Given the description of an element on the screen output the (x, y) to click on. 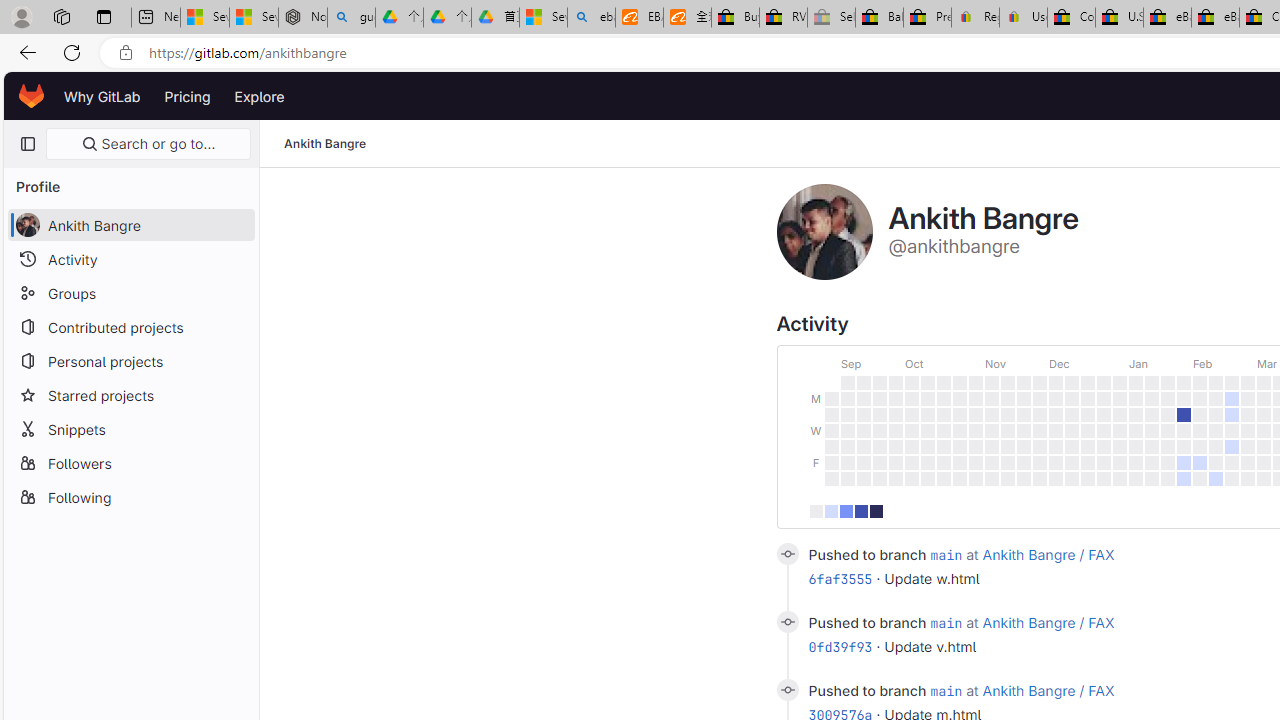
Primary navigation sidebar (27, 143)
Starred projects (130, 394)
Ankith Bangre (325, 143)
